Given the description of an element on the screen output the (x, y) to click on. 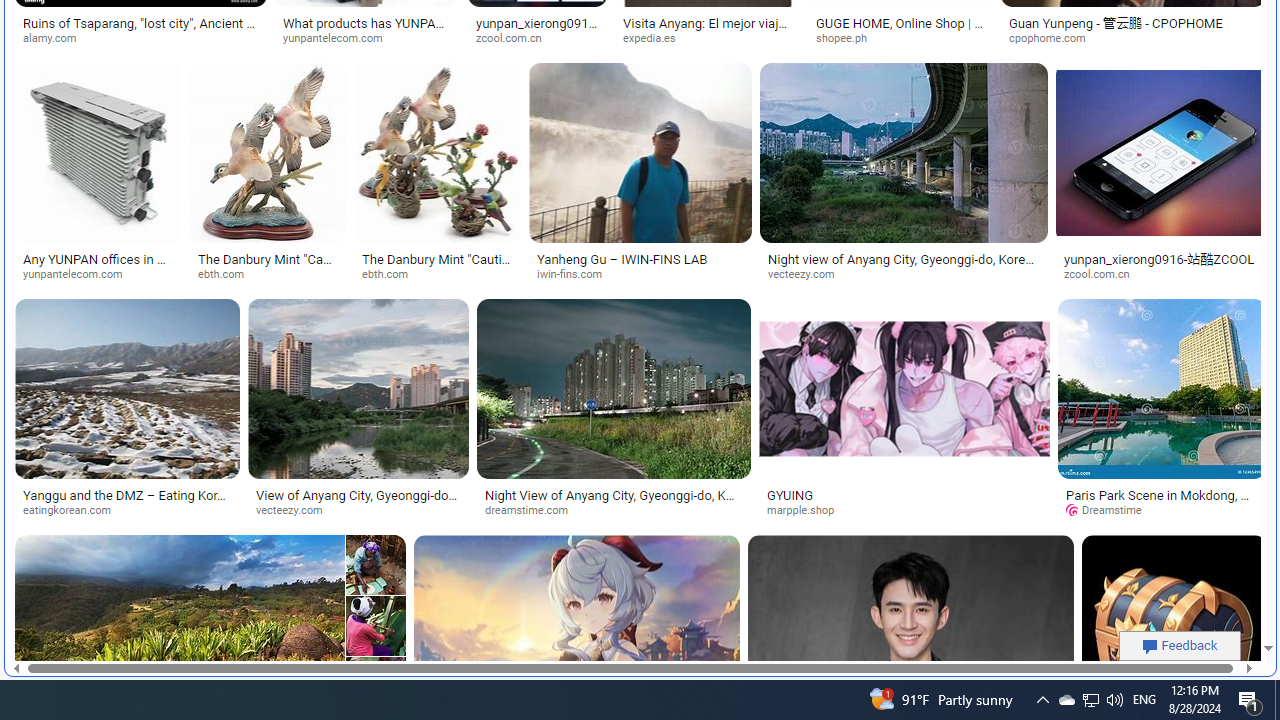
iwin-fins.com (640, 274)
marpple.shop (807, 509)
vecteezy.com (358, 511)
eatingkorean.com (74, 509)
Dreamstime (1110, 509)
GYUING (903, 494)
iwin-fins.com (576, 273)
